Given the description of an element on the screen output the (x, y) to click on. 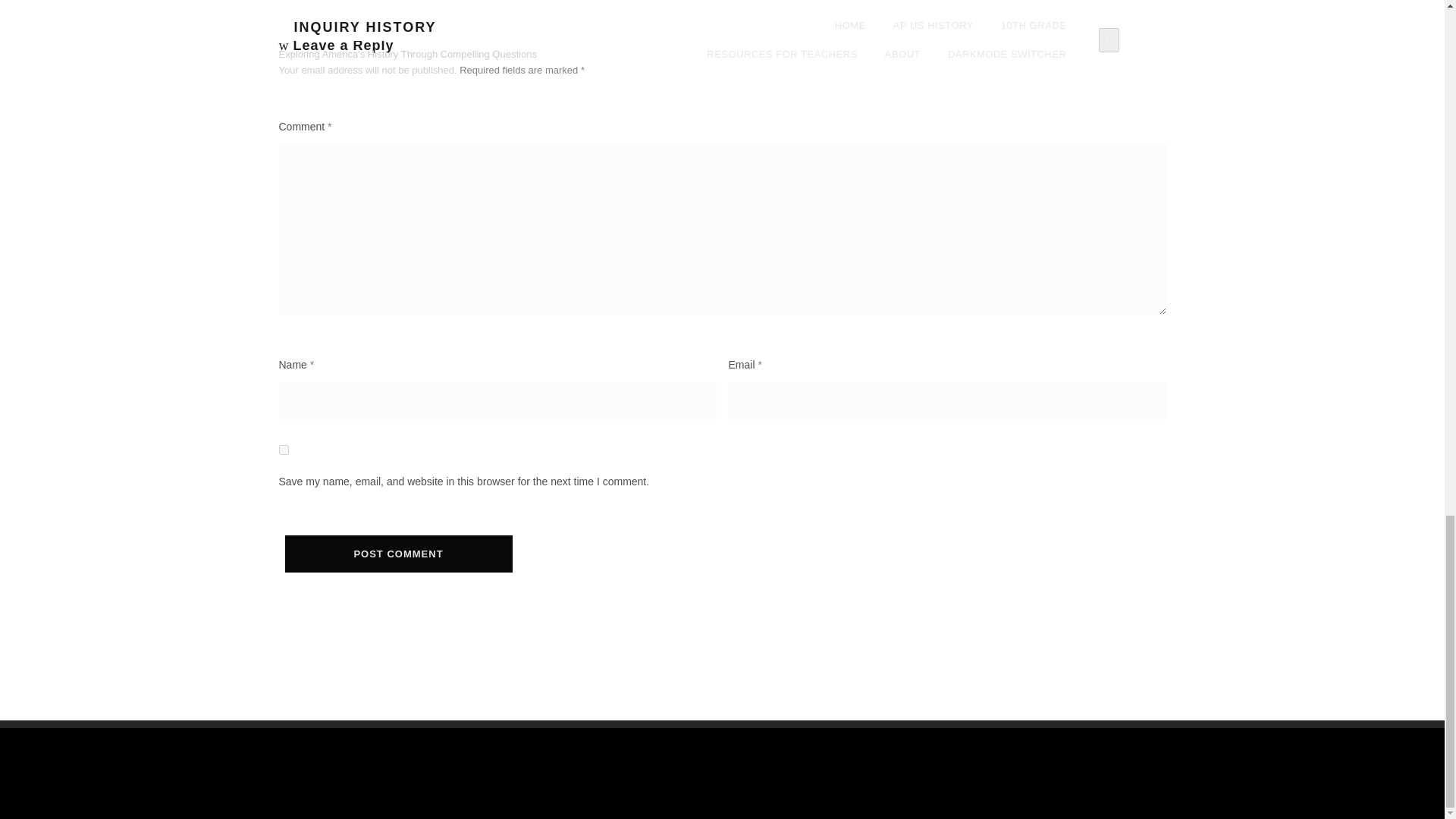
WORDPRESS (622, 787)
yes (283, 450)
KEON THEMES (817, 787)
Post Comment (398, 553)
Post Comment (398, 553)
CREATIVE COMMONS ATTRIBUTION 4.0 INTERNATIONAL LICENSE (721, 751)
